Given the description of an element on the screen output the (x, y) to click on. 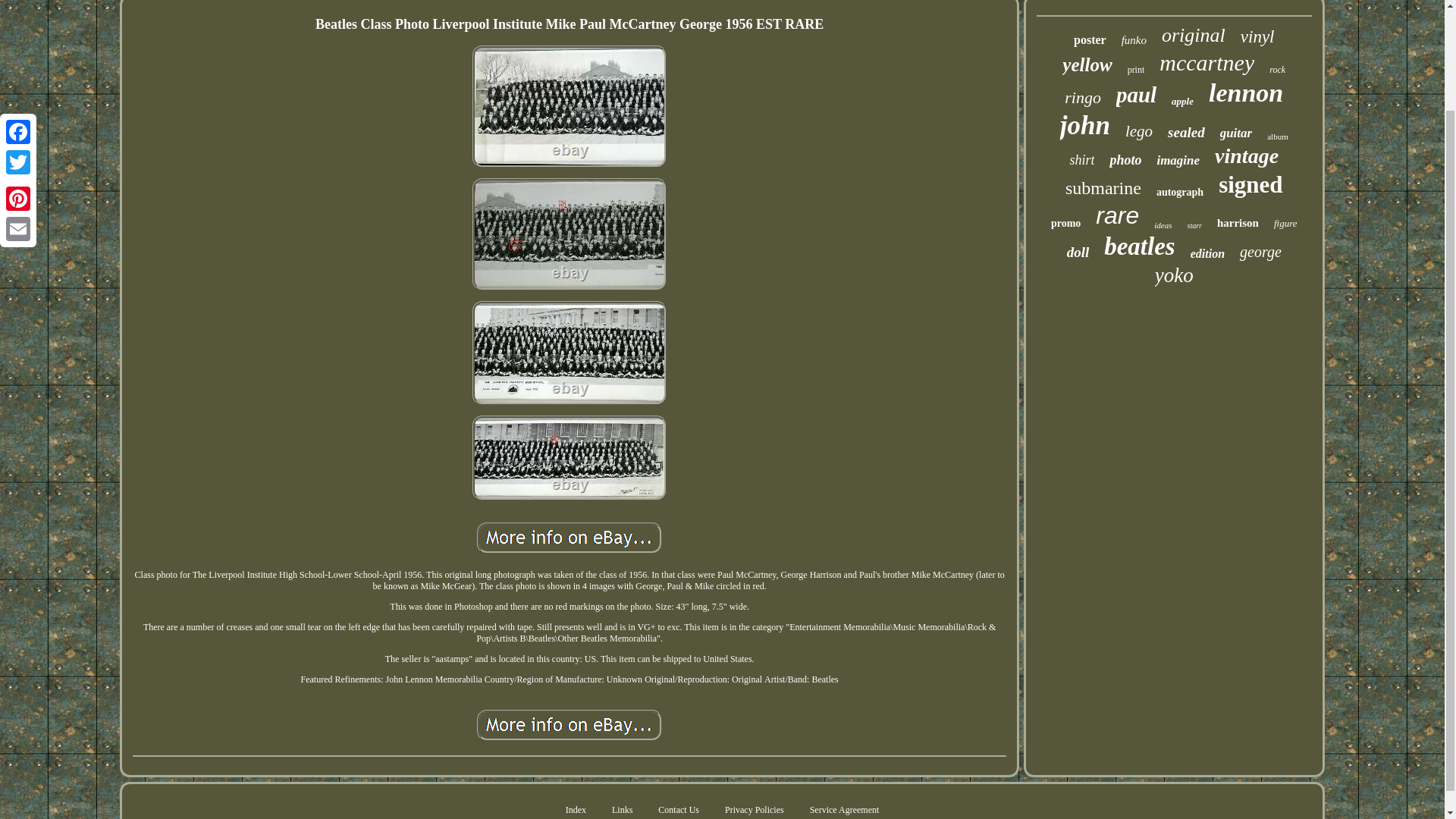
ideas (1163, 225)
promo (1065, 223)
funko (1134, 40)
signed (1250, 185)
rock (1277, 70)
vinyl (1257, 36)
lego (1139, 131)
